Given the description of an element on the screen output the (x, y) to click on. 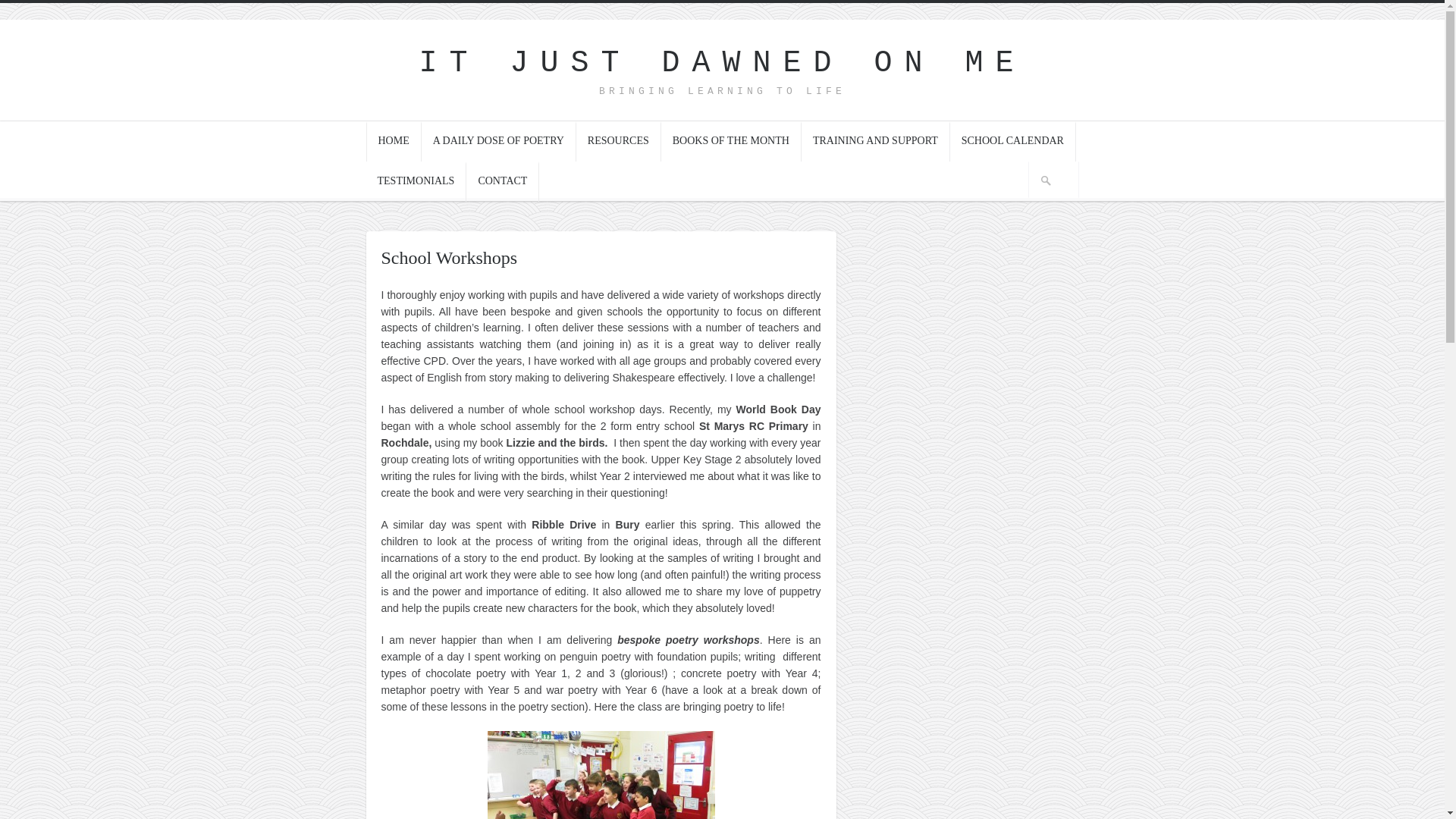
HOME (392, 141)
RESOURCES (618, 141)
A DAILY DOSE OF POETRY (499, 141)
IT JUST DAWNED ON ME (722, 62)
